Given the description of an element on the screen output the (x, y) to click on. 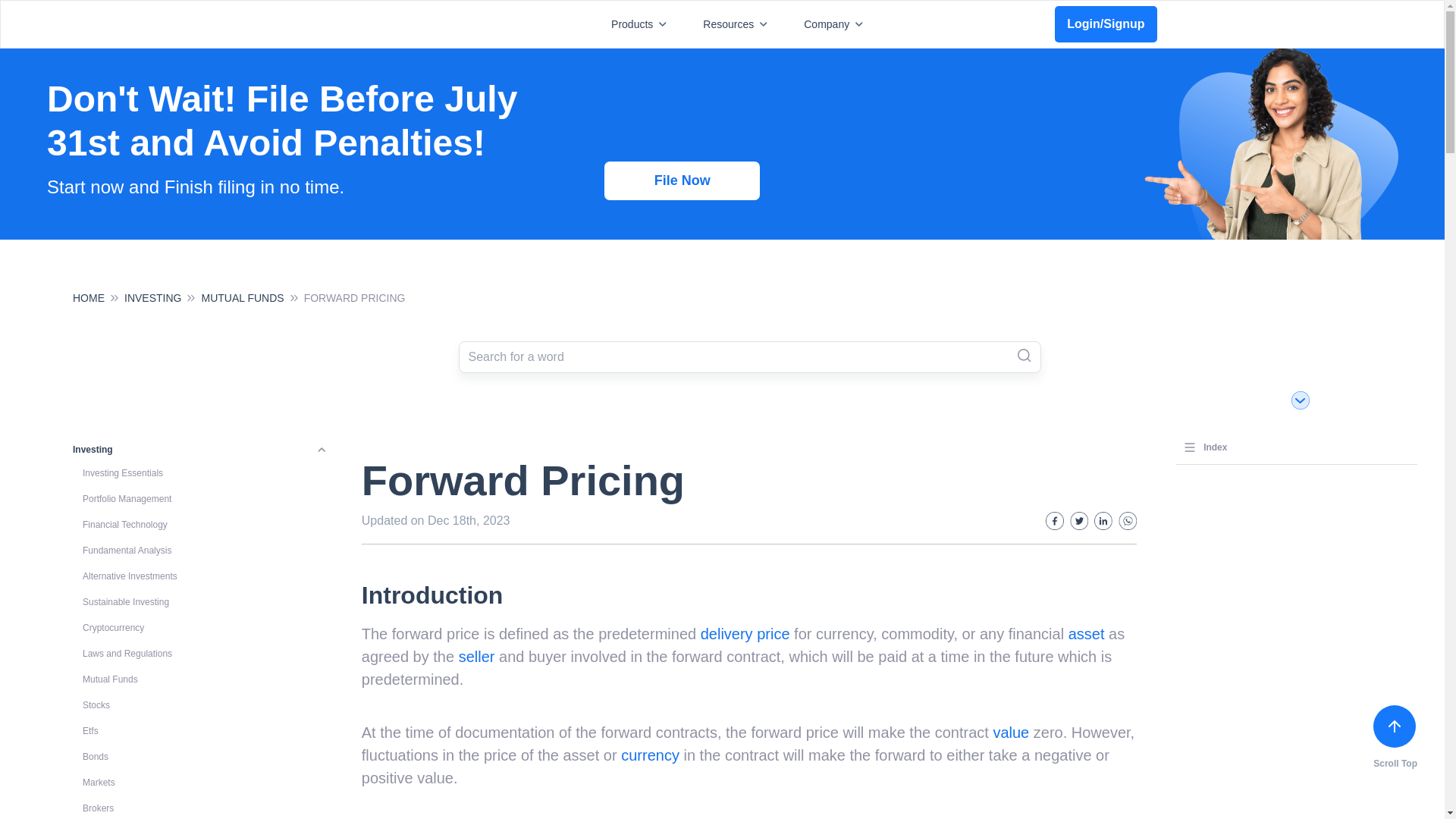
Company (836, 24)
Resources (738, 24)
Products (641, 24)
